Given the description of an element on the screen output the (x, y) to click on. 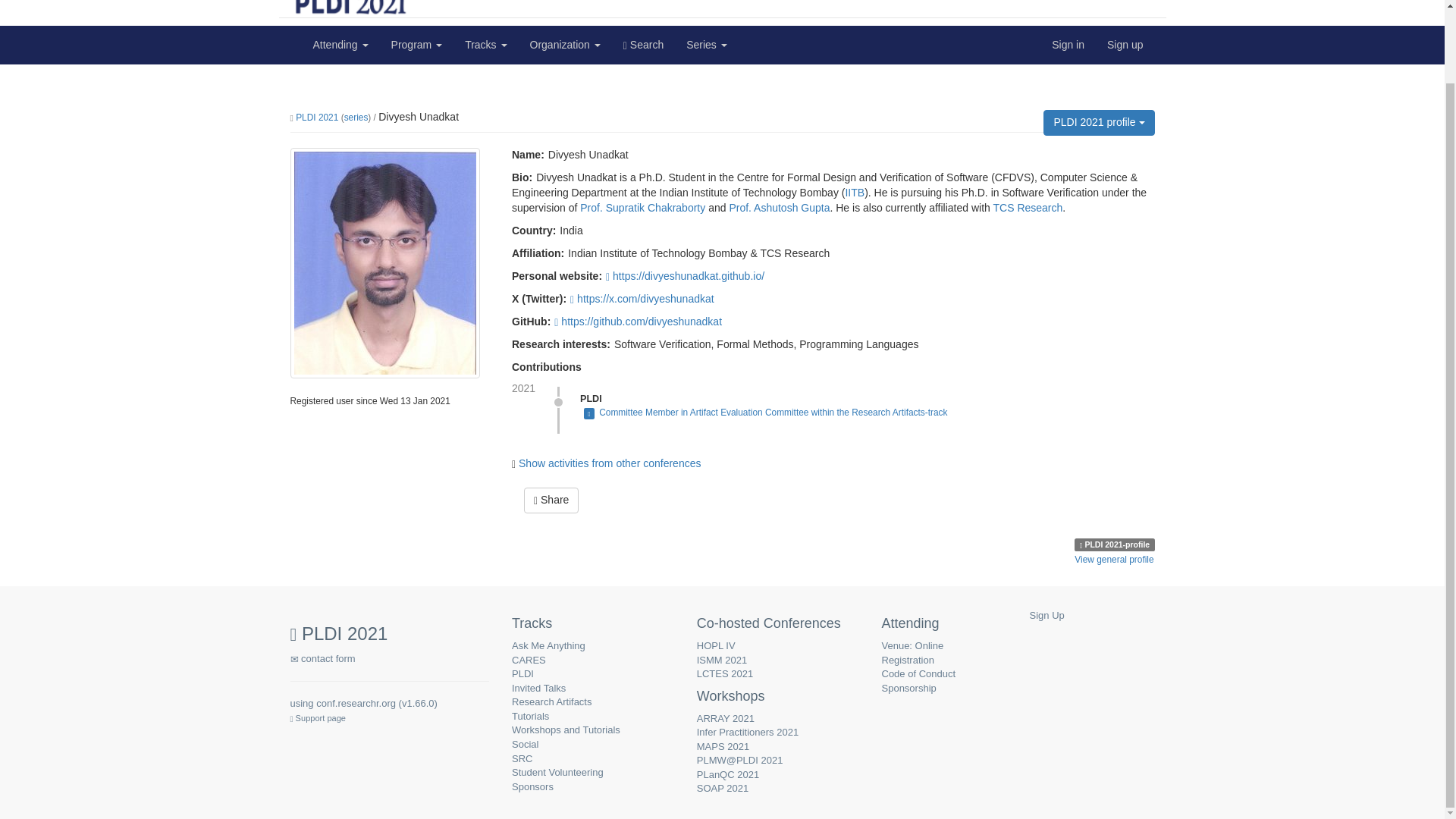
Tracks (485, 44)
Attending (340, 44)
Program (417, 44)
